Given the description of an element on the screen output the (x, y) to click on. 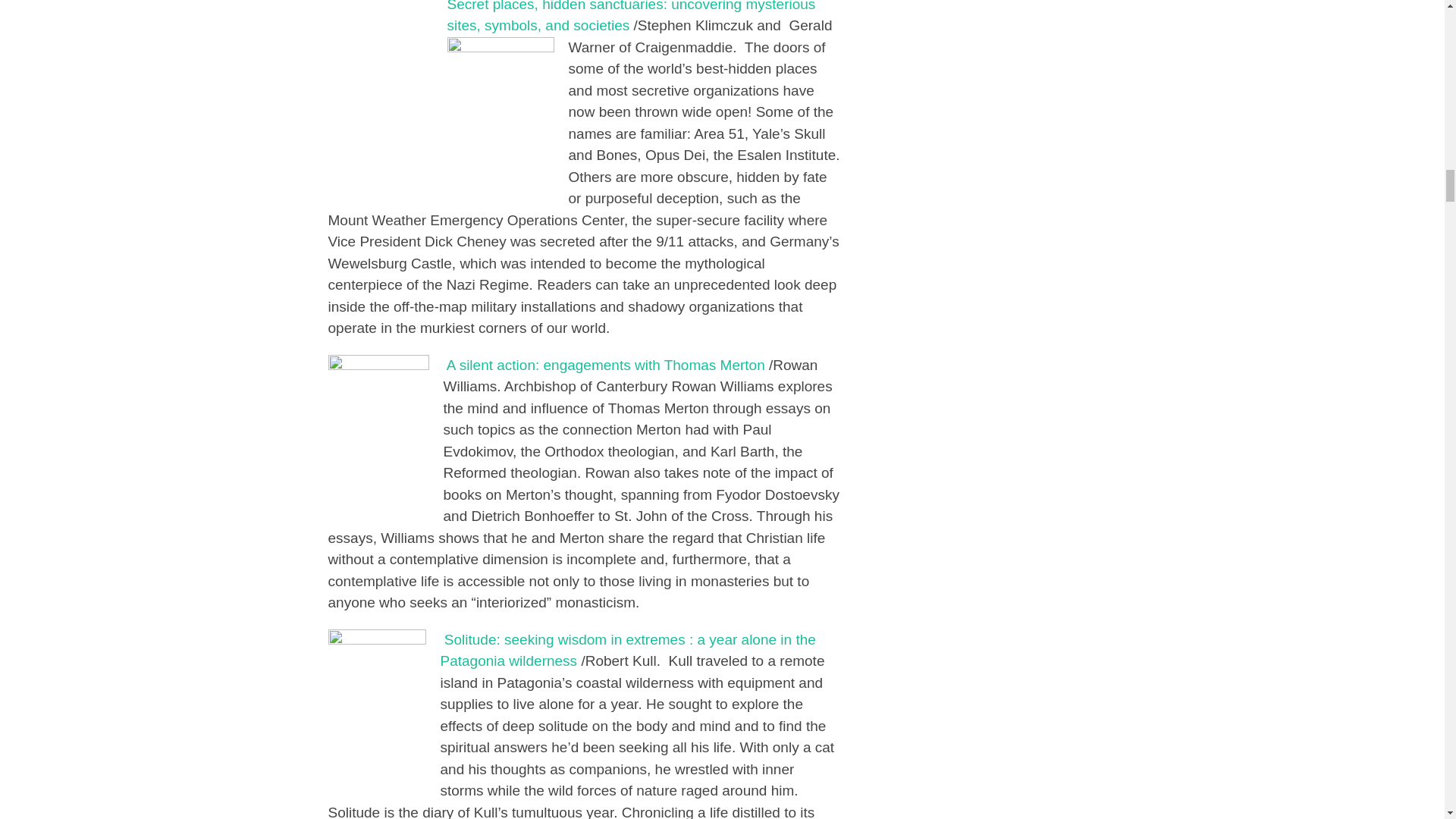
A silent action: engagements with Thomas Merton (605, 365)
